Given the description of an element on the screen output the (x, y) to click on. 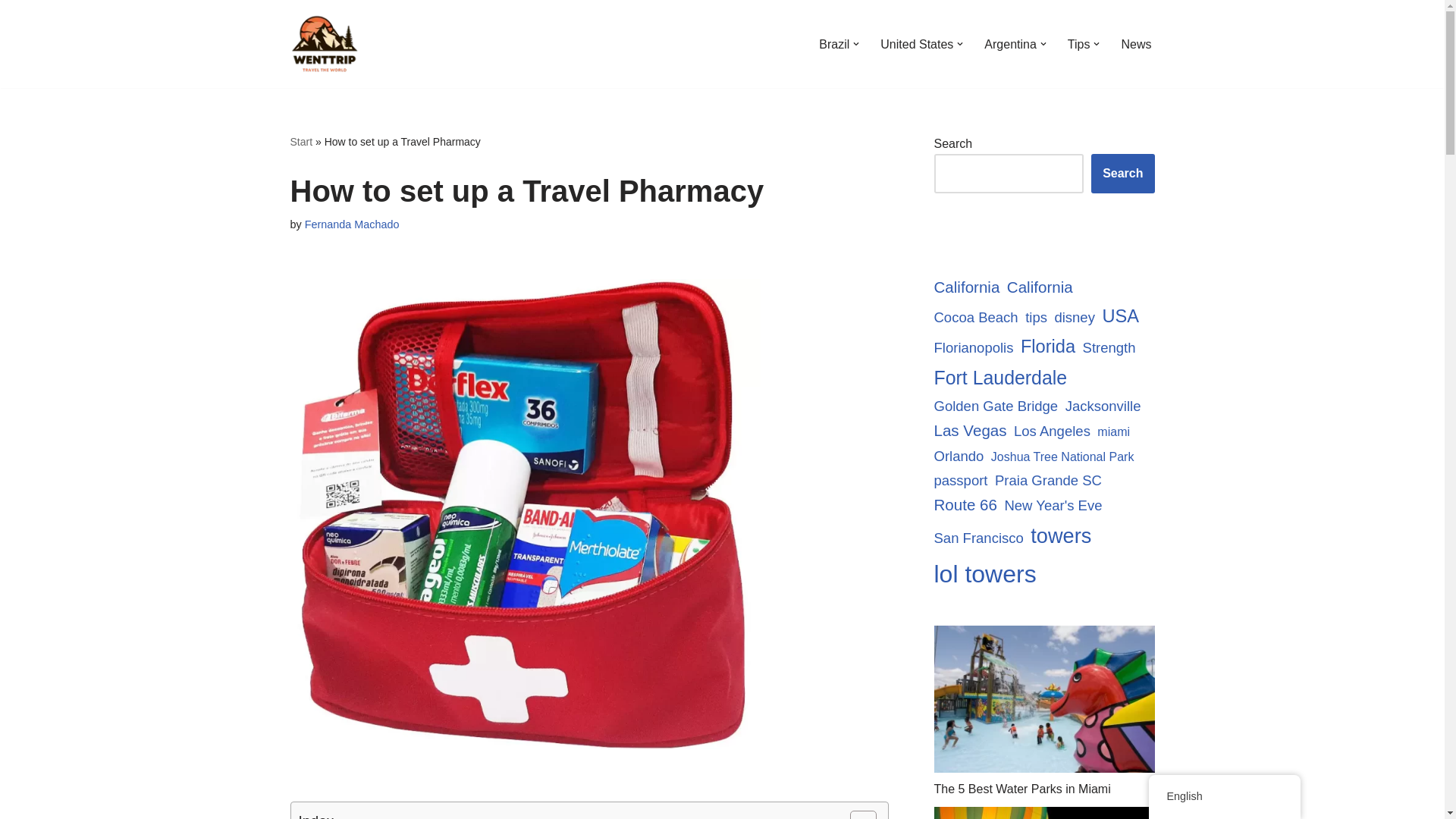
Brazil, all about travel, tourism and much more (833, 44)
Skip to content (11, 31)
Brazil (833, 44)
